Given the description of an element on the screen output the (x, y) to click on. 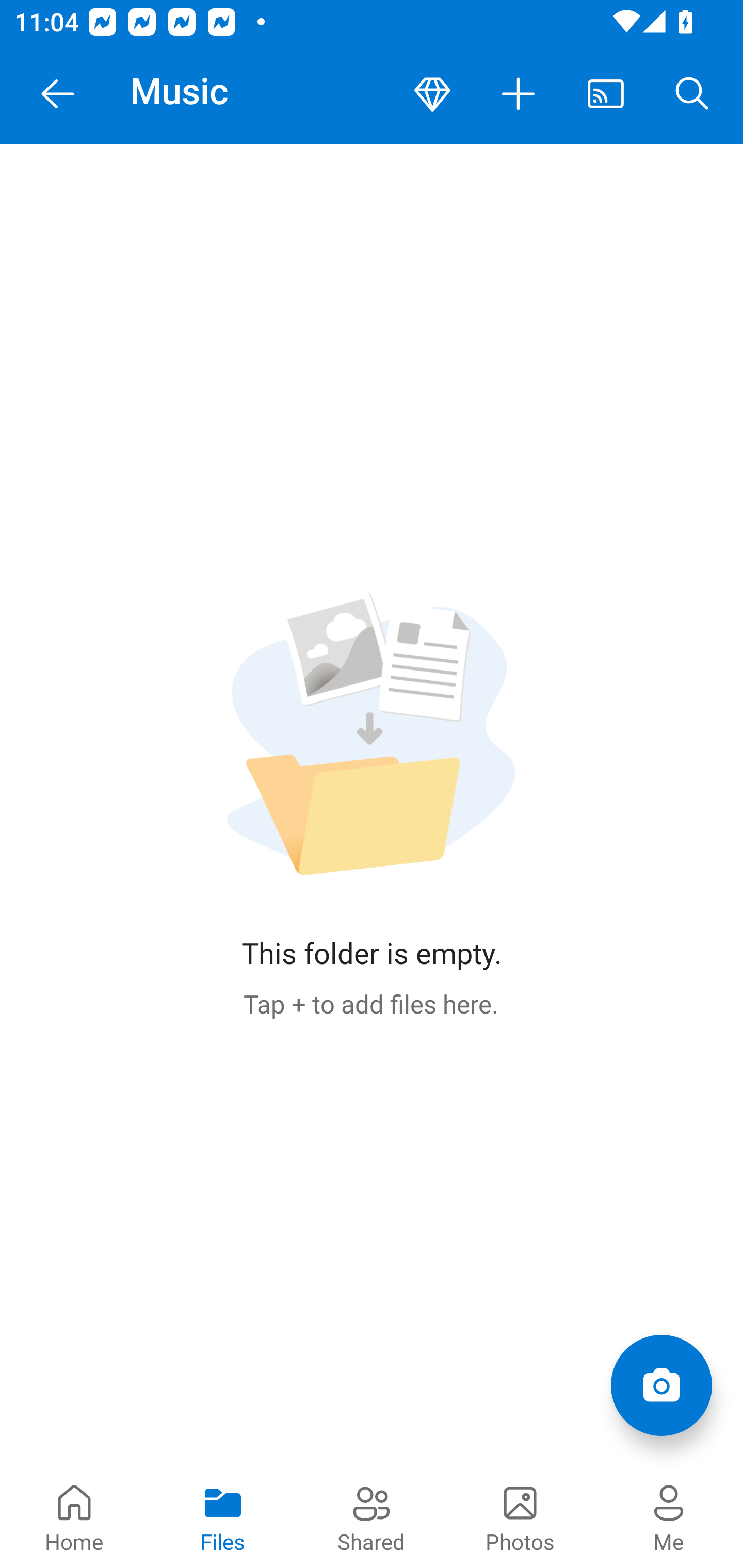
Navigate Up (57, 93)
Cast. Disconnected (605, 93)
Premium button (432, 93)
More actions button (518, 93)
Search button (692, 93)
Add items Scan (660, 1385)
Home pivot Home (74, 1517)
Shared pivot Shared (371, 1517)
Photos pivot Photos (519, 1517)
Me pivot Me (668, 1517)
